Given the description of an element on the screen output the (x, y) to click on. 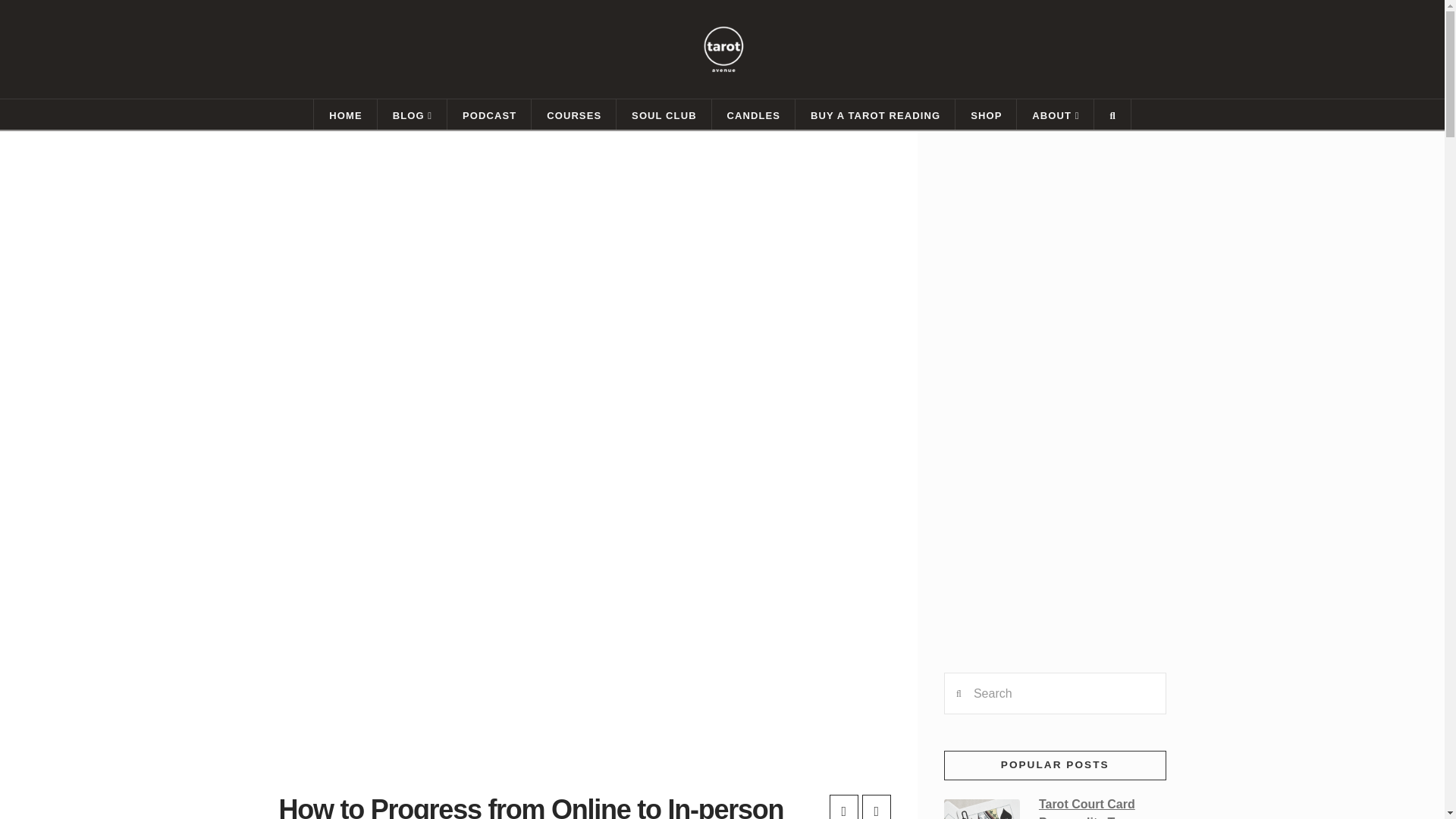
SHOP (985, 114)
HOME (345, 114)
COURSES (573, 114)
CANDLES (752, 114)
BUY A TAROT READING (874, 114)
BLOG (411, 114)
PODCAST (488, 114)
SOUL CLUB (663, 114)
ABOUT (1055, 114)
